Given the description of an element on the screen output the (x, y) to click on. 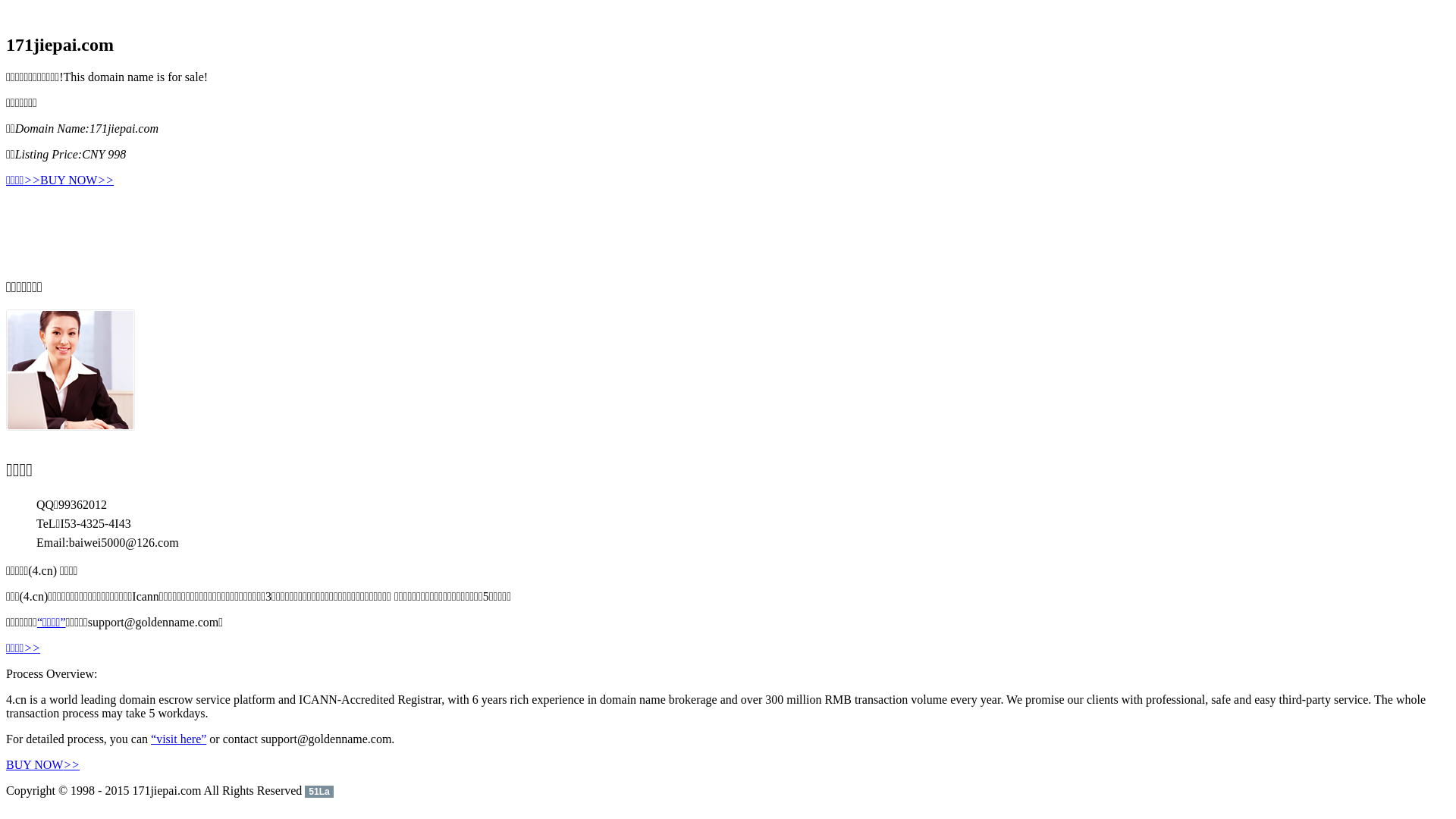
BUY NOW>> Element type: text (76, 180)
51La Element type: text (318, 790)
BUY NOW>> Element type: text (42, 764)
